Given the description of an element on the screen output the (x, y) to click on. 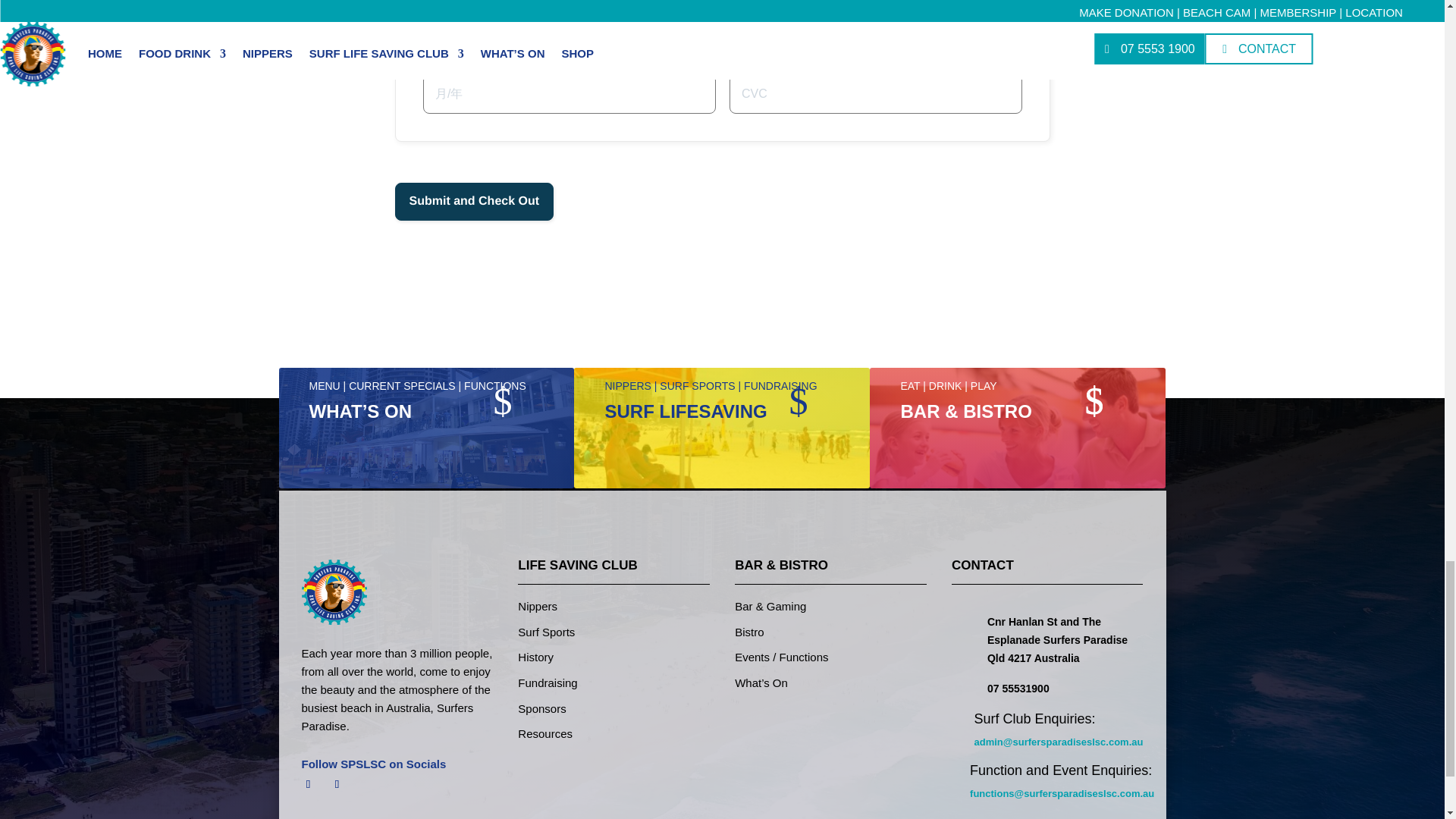
Secure payment input frame (569, 93)
Secure payment input frame (875, 93)
Follow on Facebook (308, 784)
Follow on Instagram (337, 784)
Secure payment input frame (722, 19)
Submit and Check Out (473, 201)
